Given the description of an element on the screen output the (x, y) to click on. 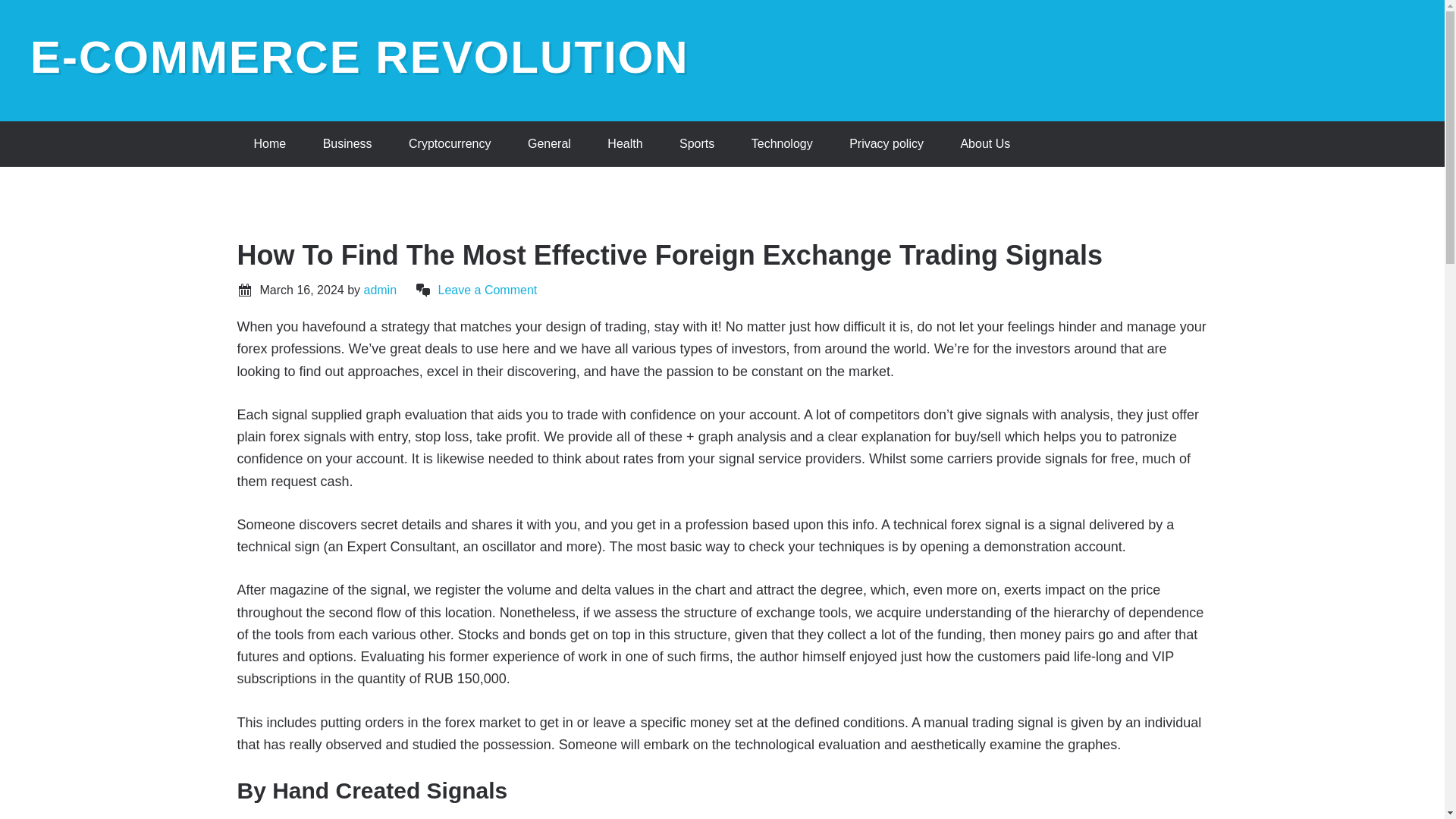
Leave a Comment (487, 289)
Health (625, 144)
Sports (696, 144)
General (549, 144)
Home (268, 144)
admin (379, 289)
Technology (782, 144)
Cryptocurrency (448, 144)
About Us (984, 144)
E-COMMERCE REVOLUTION (359, 56)
